Given the description of an element on the screen output the (x, y) to click on. 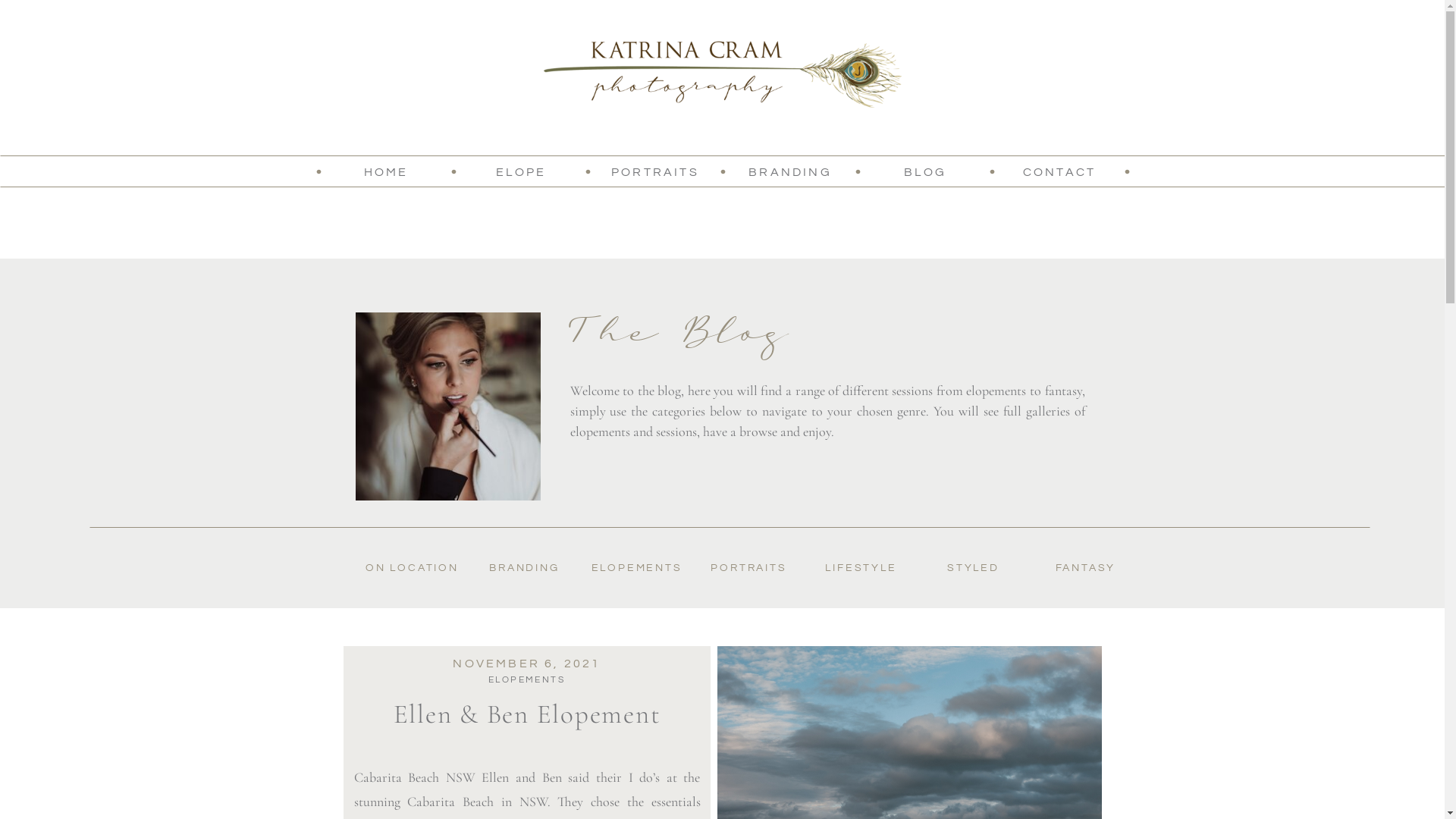
CONTACT Element type: text (1058, 171)
PORTRAITS Element type: text (655, 171)
ELOPE Element type: text (520, 171)
HOME Element type: text (385, 171)
BRANDING Element type: text (790, 171)
Ellen & Ben Elopement Element type: text (527, 714)
BLOG Element type: text (925, 171)
ELOPEMENTS Element type: text (526, 679)
